Given the description of an element on the screen output the (x, y) to click on. 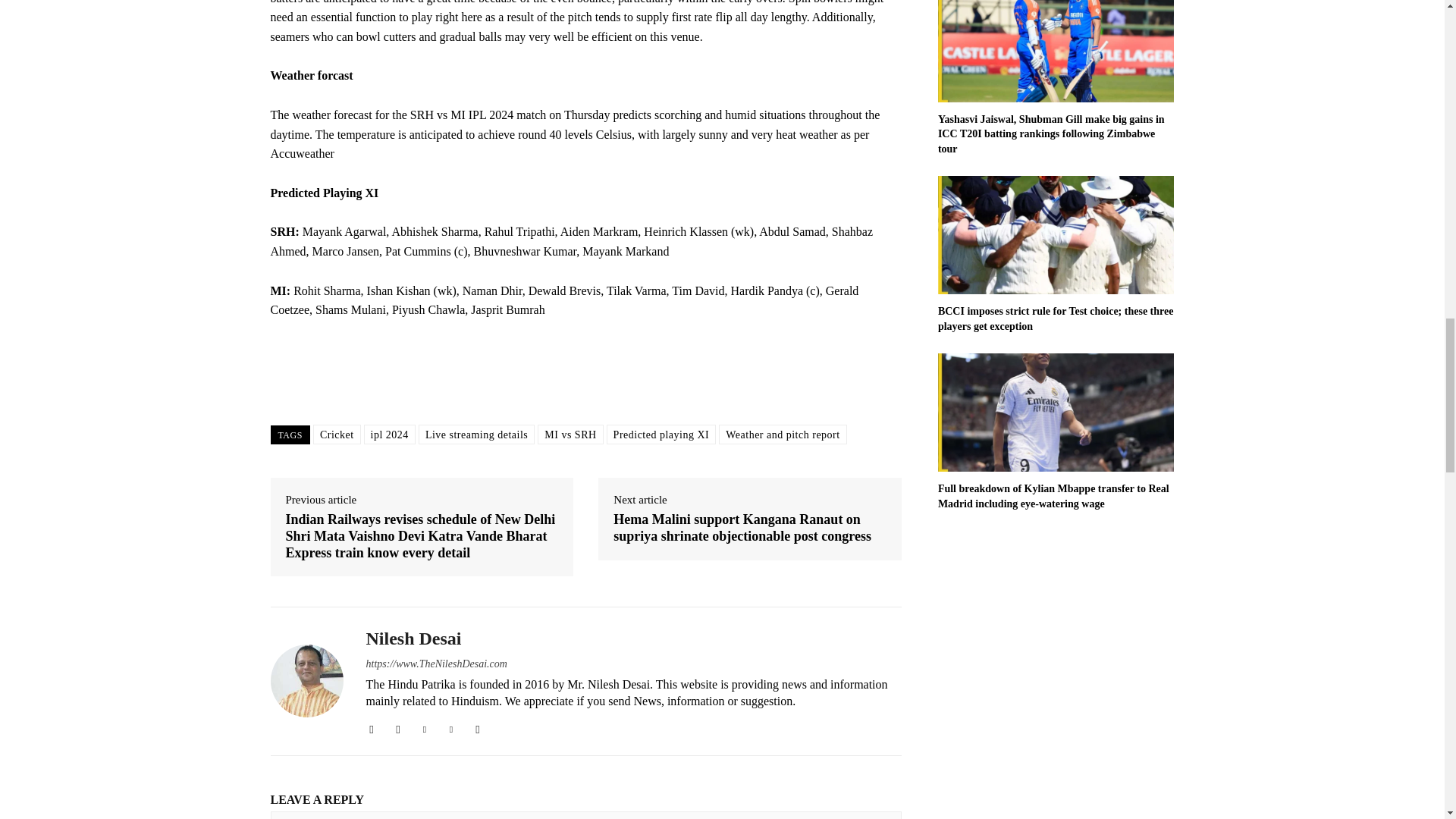
Twitter (451, 726)
Instagram (398, 726)
Cricket (337, 434)
ipl 2024 (389, 434)
Youtube (477, 726)
Linkedin (424, 726)
Facebook (371, 726)
